Given the description of an element on the screen output the (x, y) to click on. 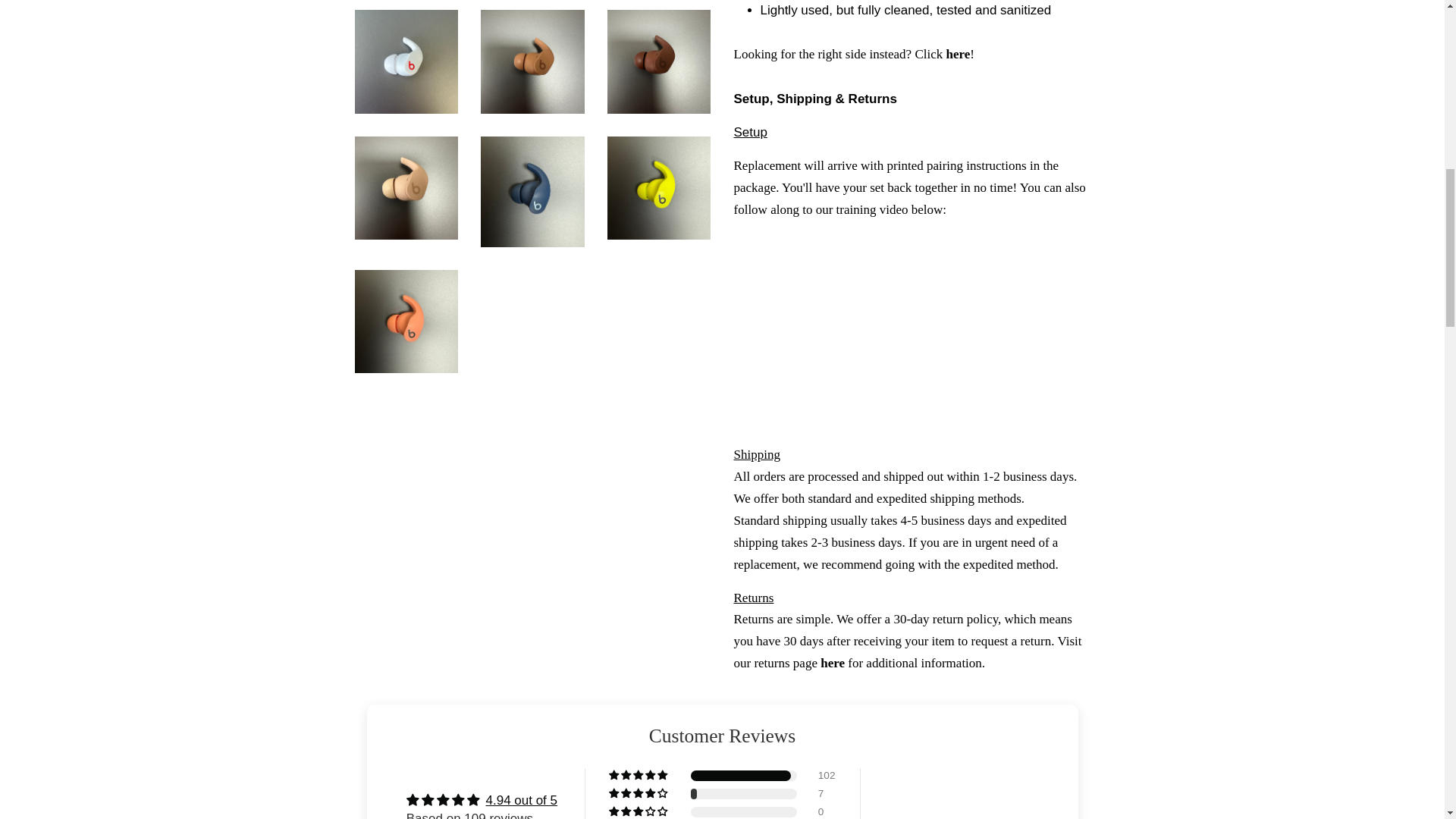
YouTube video player (911, 332)
